Given the description of an element on the screen output the (x, y) to click on. 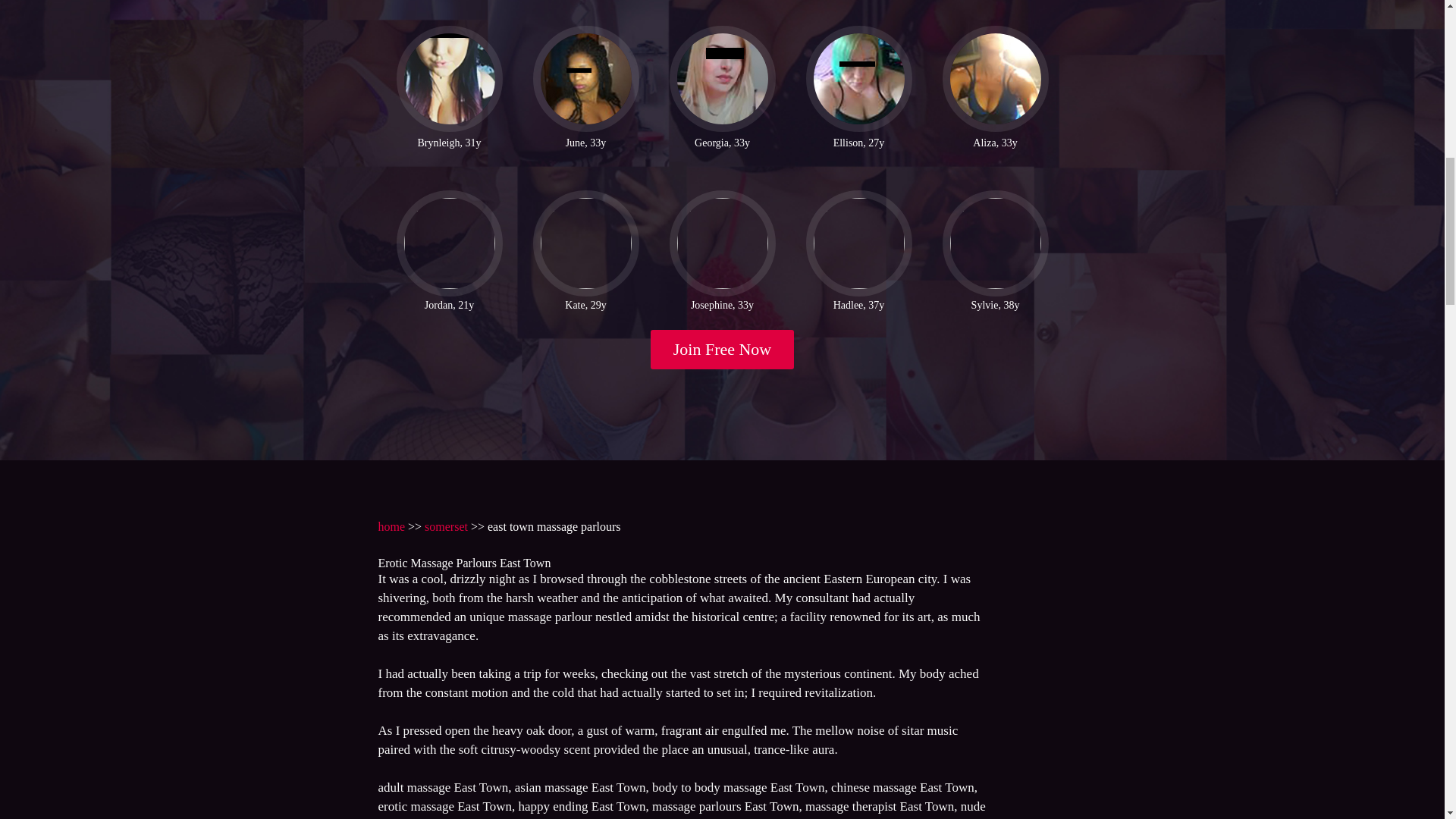
home (390, 526)
Join (722, 349)
Join Free Now (722, 349)
somerset (446, 526)
